Given the description of an element on the screen output the (x, y) to click on. 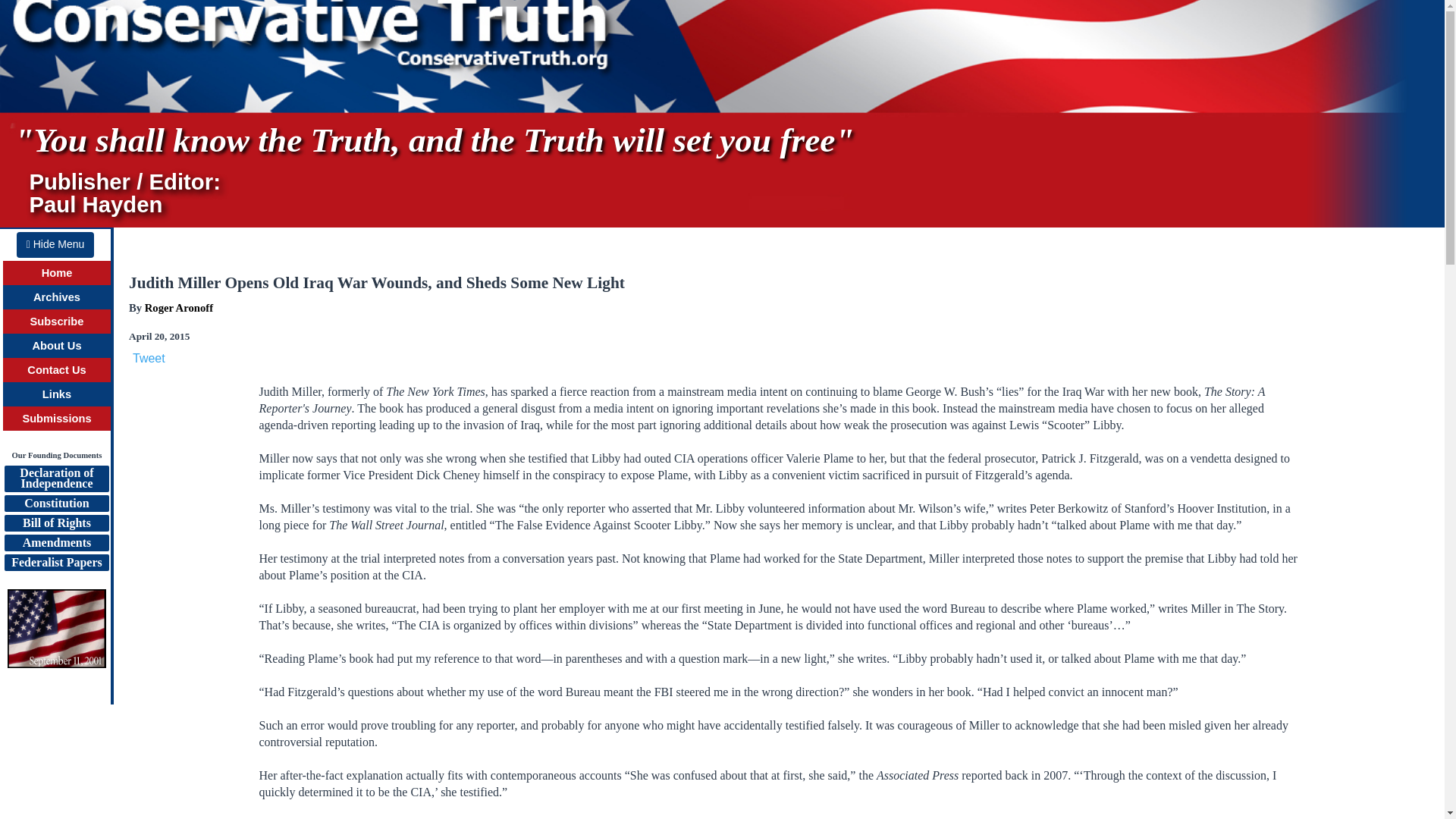
Federalist Papers (56, 562)
Home (57, 272)
Contact Us (56, 369)
Amendments (56, 542)
Hide Menu (55, 244)
Archives (56, 297)
Constitution (56, 503)
Roger Aronoff (178, 307)
Bill of Rights (56, 523)
Tweet (148, 358)
Subscribe (57, 321)
Links (56, 394)
Submissions (55, 418)
About Us (56, 345)
